Given the description of an element on the screen output the (x, y) to click on. 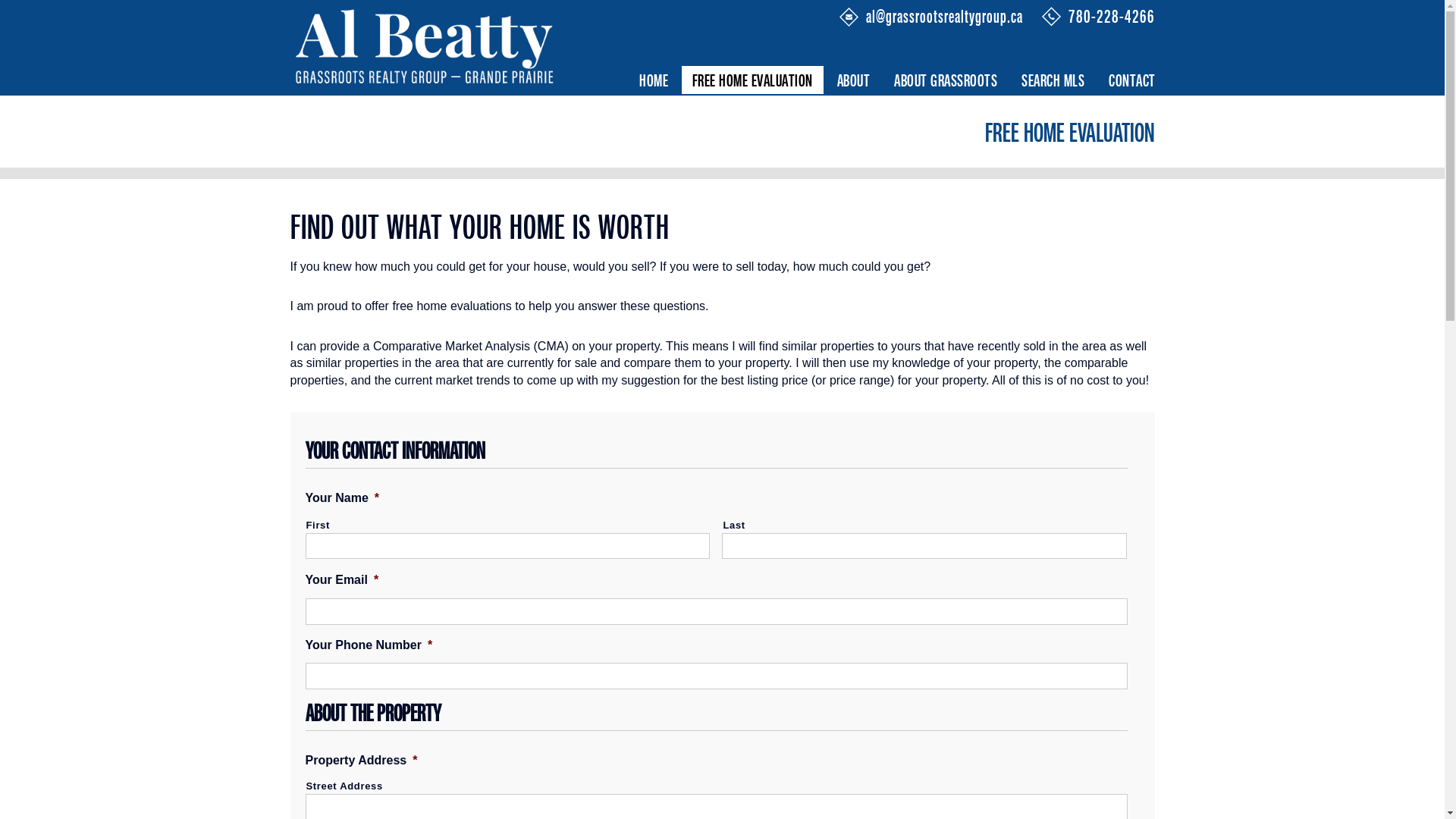
CONTACT Element type: text (1132, 79)
al@grassrootsrealtygroup.ca Element type: text (950, 15)
HOME Element type: text (653, 79)
SEARCH MLS Element type: text (1052, 79)
ABOUT GRASSROOTS Element type: text (945, 79)
FREE HOME EVALUATION Element type: text (752, 79)
ABOUT Element type: text (853, 79)
